Given the description of an element on the screen output the (x, y) to click on. 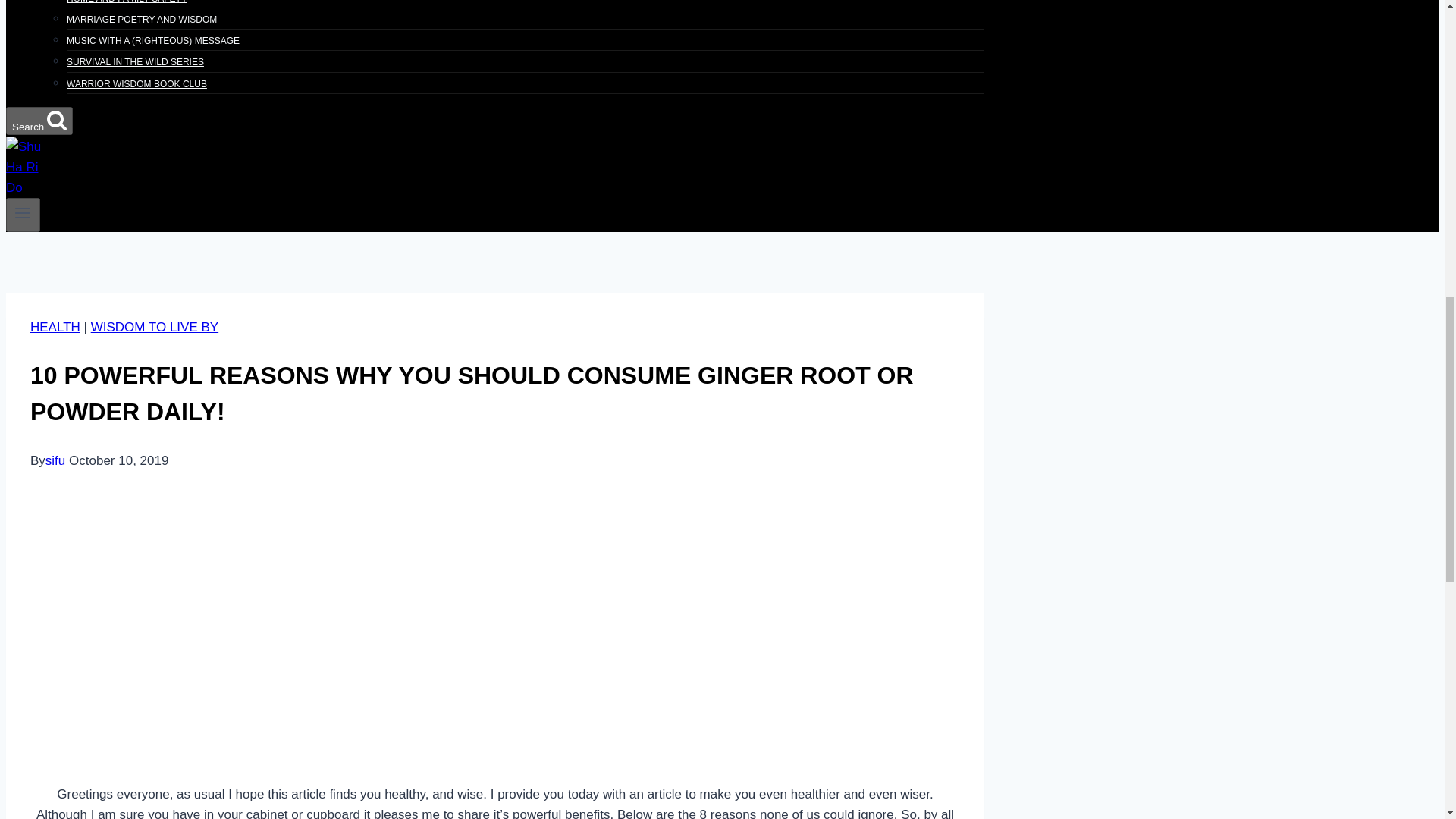
Toggle Menu (22, 212)
MARRIAGE POETRY AND WISDOM (141, 19)
WARRIOR WISDOM BOOK CLUB (136, 83)
HOME AND FAMILY SAFETY (126, 6)
Search (56, 119)
Search Search (38, 121)
SURVIVAL IN THE WILD SERIES (134, 61)
